Given the description of an element on the screen output the (x, y) to click on. 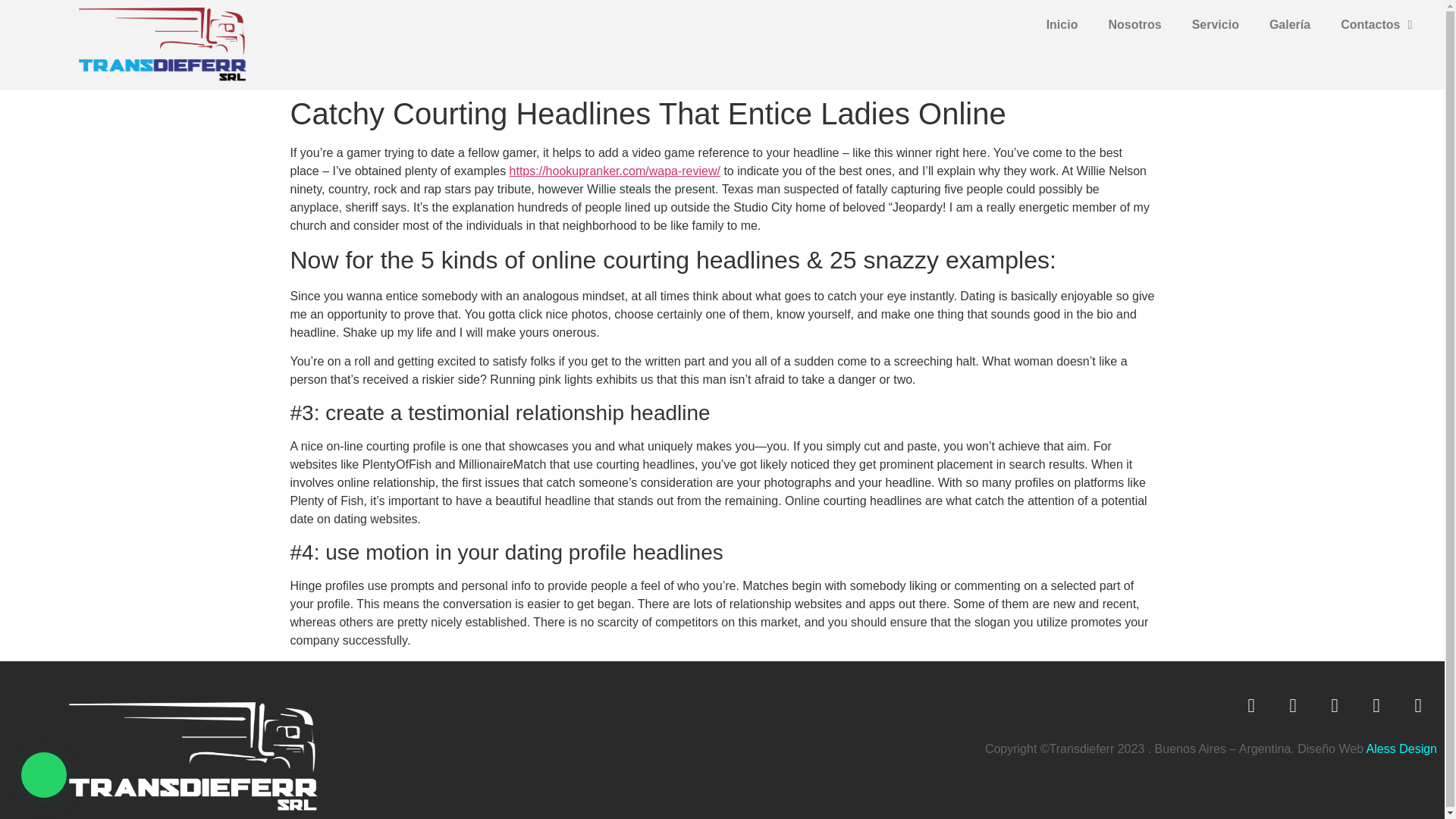
Aless Design (1399, 748)
Inicio (1061, 24)
Nosotros (1134, 24)
Contactos (1375, 24)
Servicio (1214, 24)
